Given the description of an element on the screen output the (x, y) to click on. 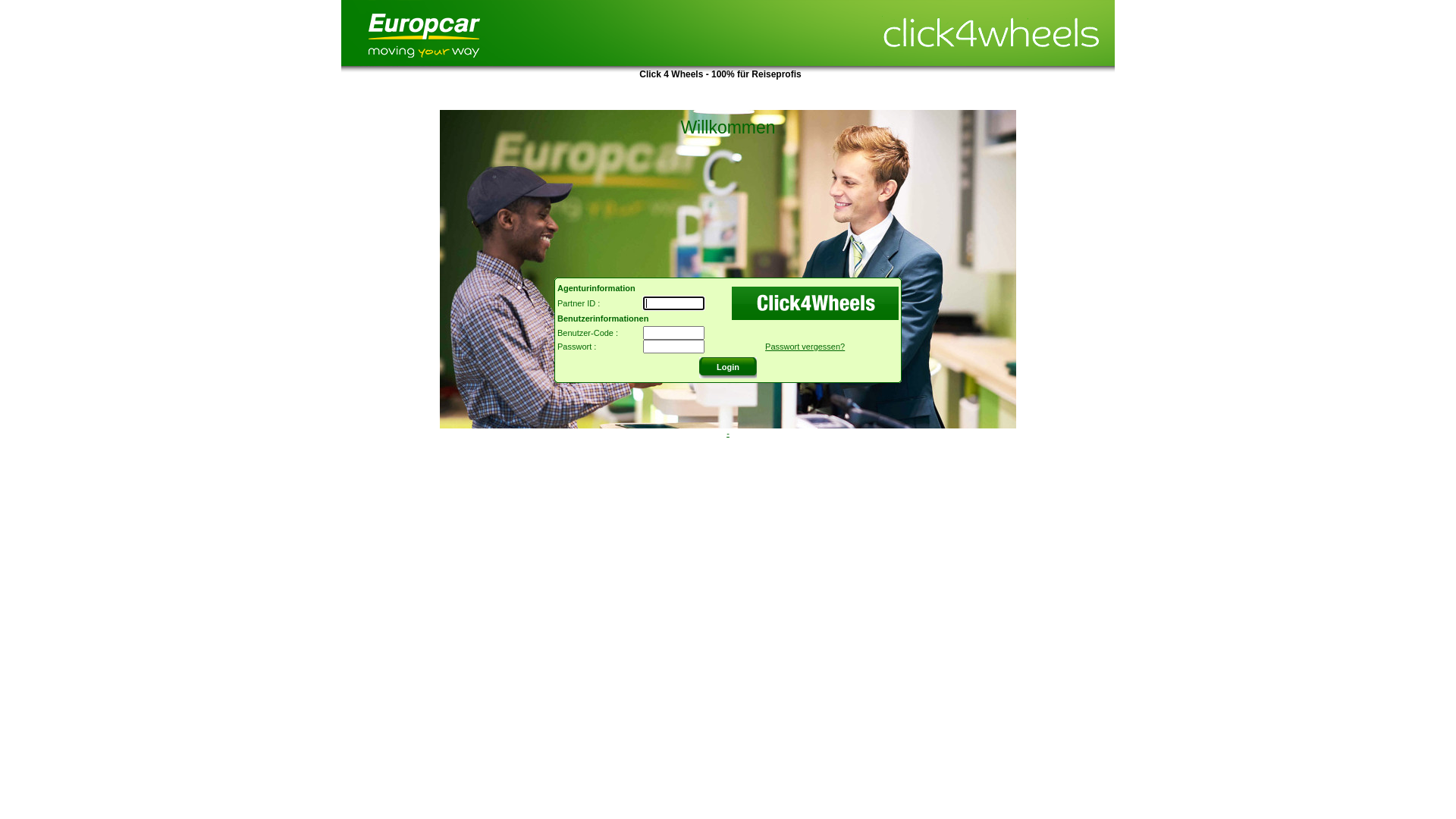
Login Element type: text (727, 365)
Login Element type: text (727, 365)
- Element type: text (727, 432)
Passwort vergessen? Element type: text (804, 346)
